Given the description of an element on the screen output the (x, y) to click on. 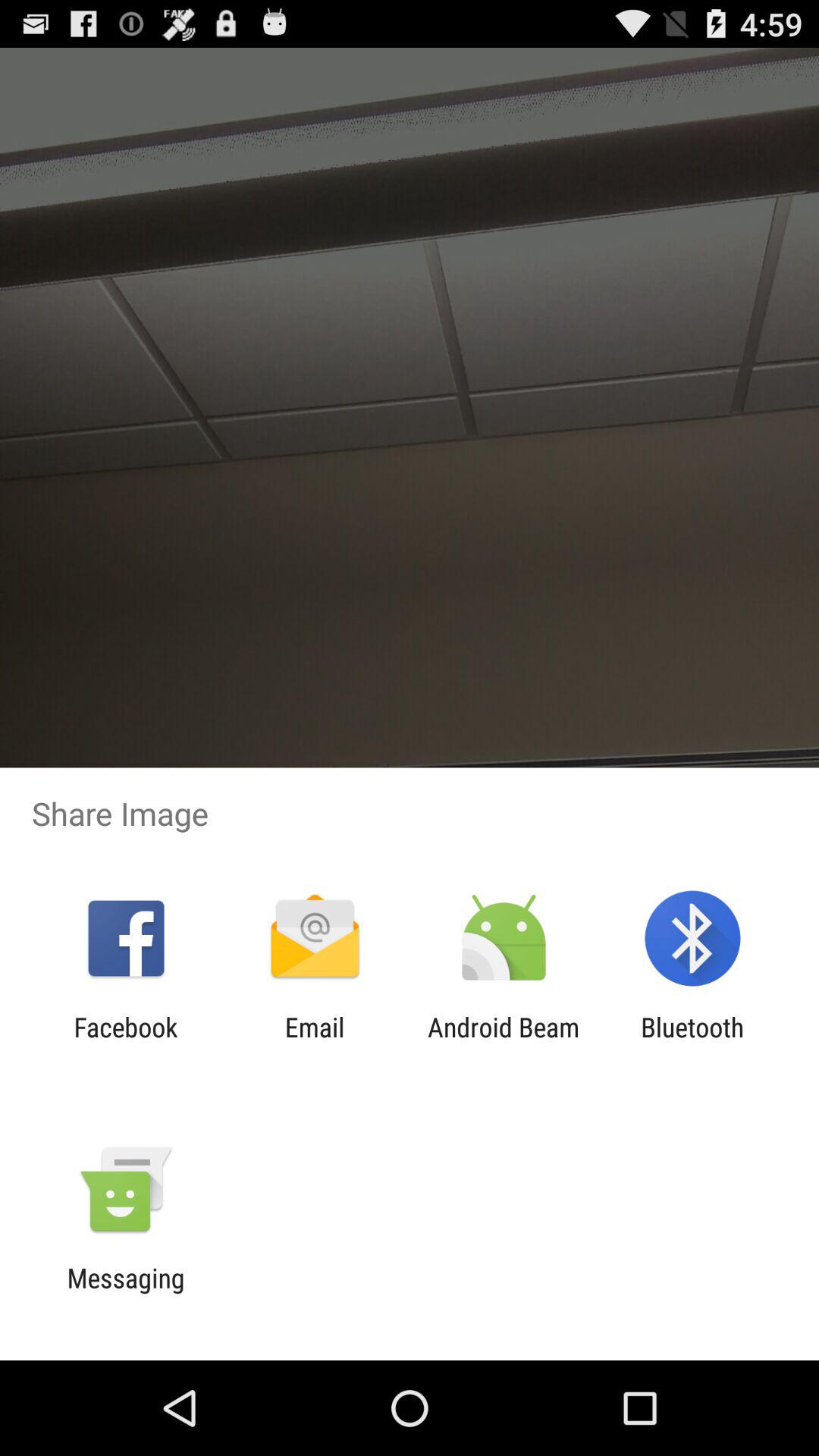
press the messaging icon (125, 1293)
